Given the description of an element on the screen output the (x, y) to click on. 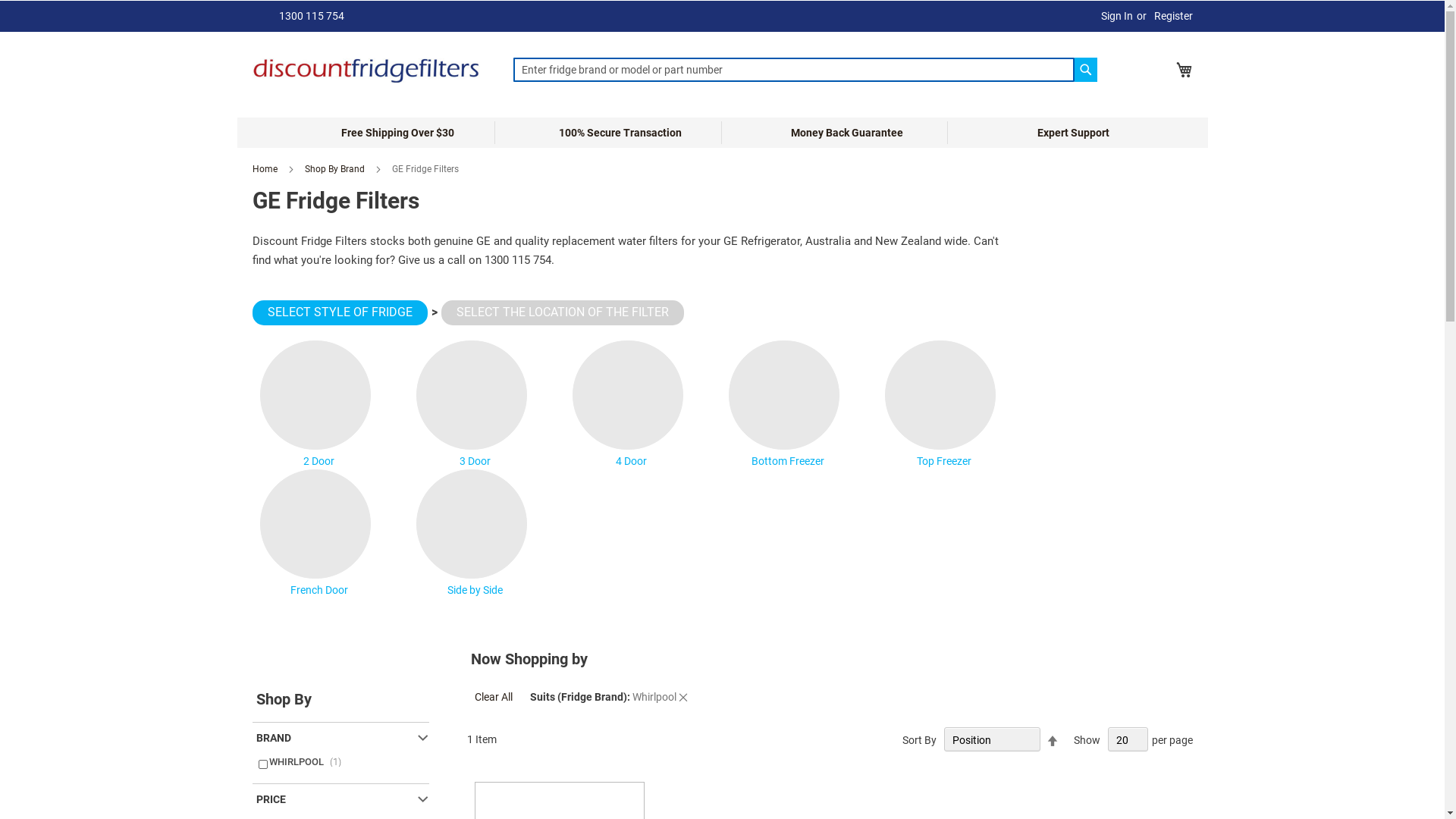
Bottom Freezer Element type: text (787, 404)
2 Door Element type: text (318, 404)
Set Descending Direction Element type: text (1052, 740)
Home Element type: text (263, 168)
Register Element type: text (1173, 16)
1300 115 754 Element type: text (307, 15)
100% Secure Transaction Element type: text (619, 132)
Clear All Element type: text (493, 696)
WHIRLPOOL 1
item Element type: text (340, 762)
Shop By Brand Element type: text (334, 168)
Expert Support Element type: text (1073, 132)
Top Freezer Element type: text (943, 404)
Money Back Guarantee Element type: text (846, 132)
Side by Side Element type: text (474, 533)
3 Door Element type: text (474, 404)
Remove This Item Element type: text (682, 696)
Sign In Element type: text (1116, 16)
French Door Element type: text (318, 533)
4 Door Element type: text (630, 404)
Search Element type: text (1085, 69)
Free Shipping Over $30 Element type: text (397, 132)
My Cart Element type: text (1183, 69)
